Given the description of an element on the screen output the (x, y) to click on. 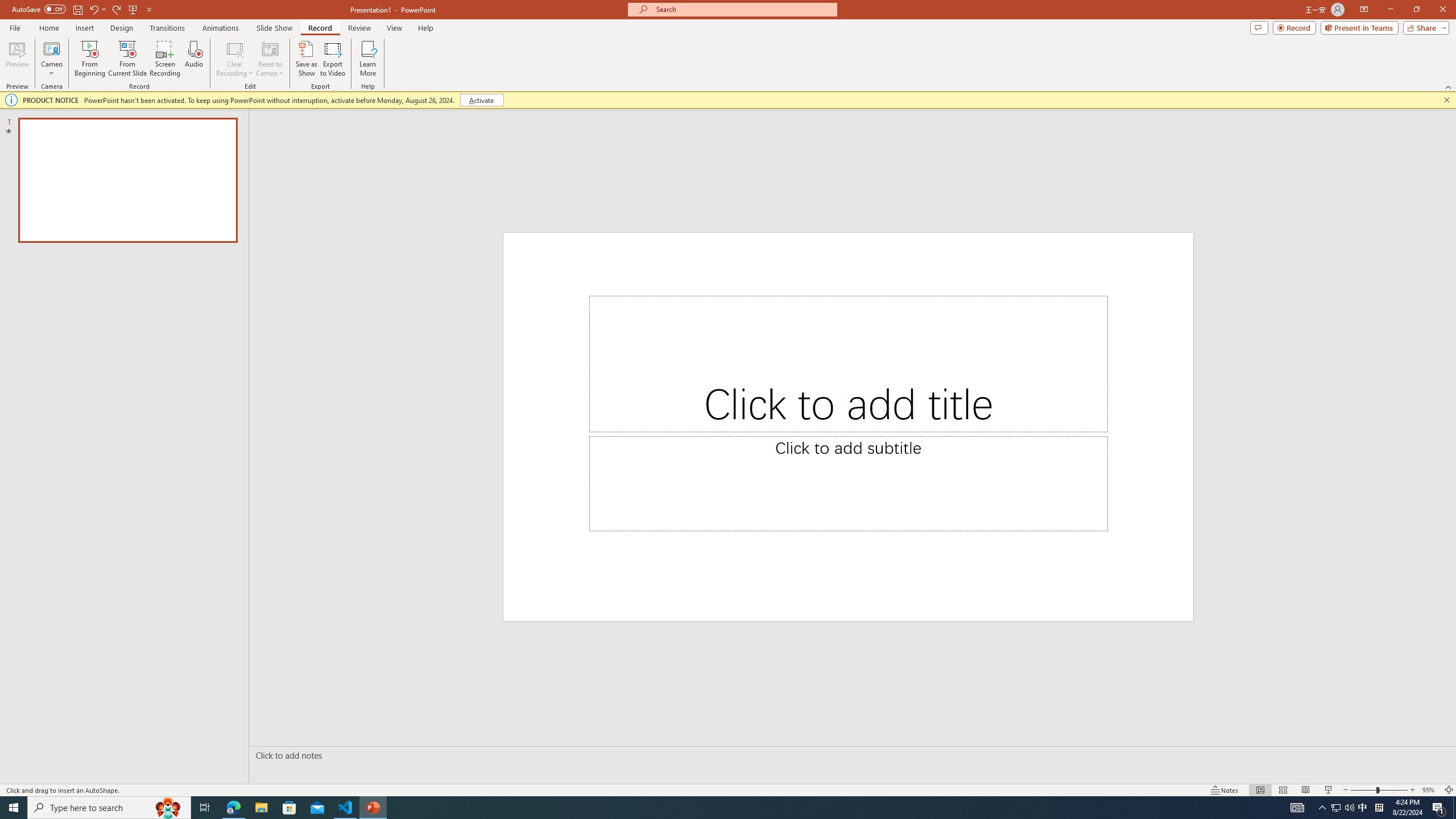
Zoom 95% (1430, 790)
